Given the description of an element on the screen output the (x, y) to click on. 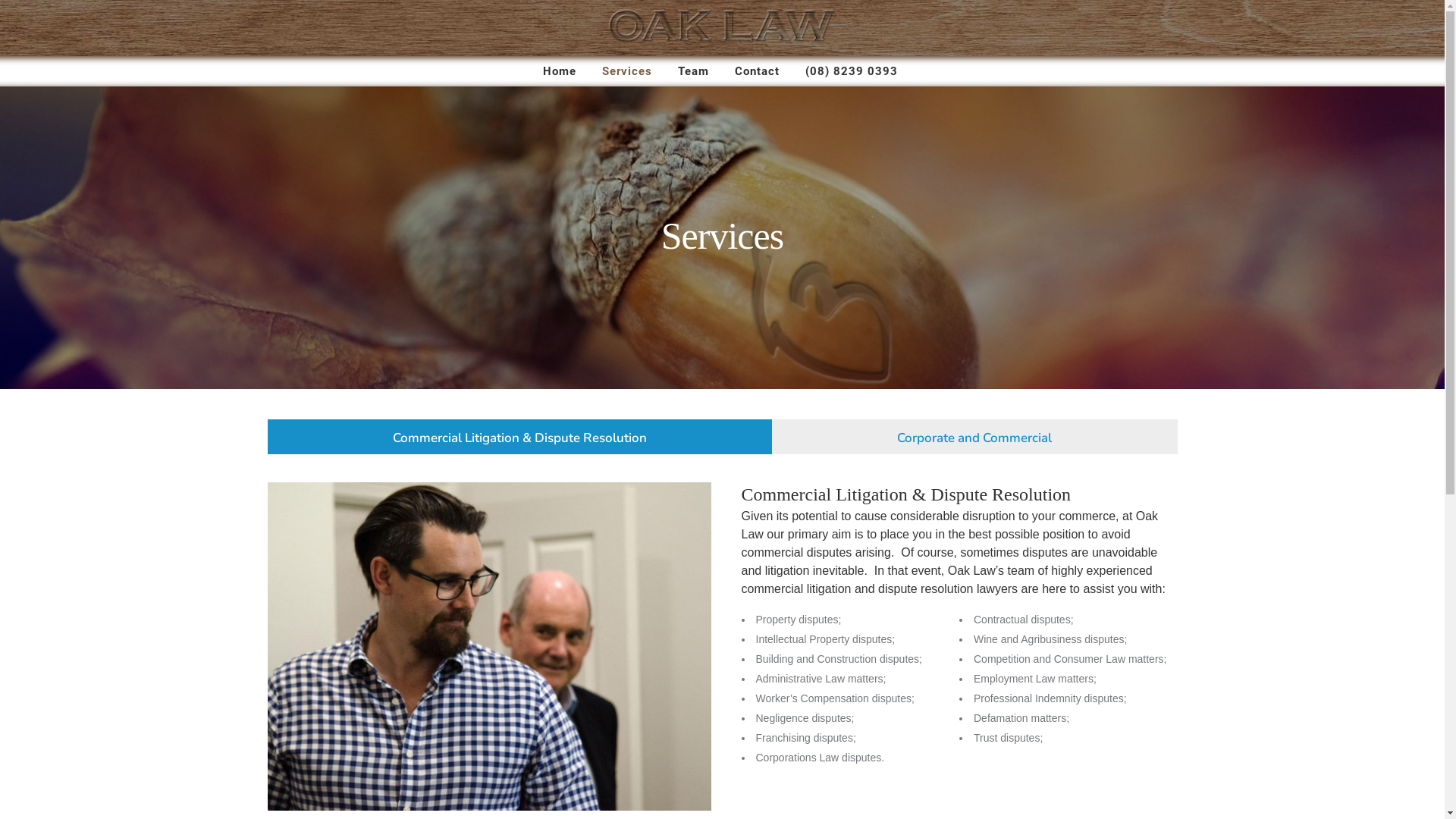
Contact Element type: text (756, 71)
Services Element type: text (627, 71)
Home Element type: text (559, 71)
Commercial Litigation & Dispute Resolution Element type: text (518, 435)
(08) 8239 0393 Element type: text (851, 71)
Corporate and Commercial Element type: text (974, 435)
Team Element type: text (693, 71)
